Given the description of an element on the screen output the (x, y) to click on. 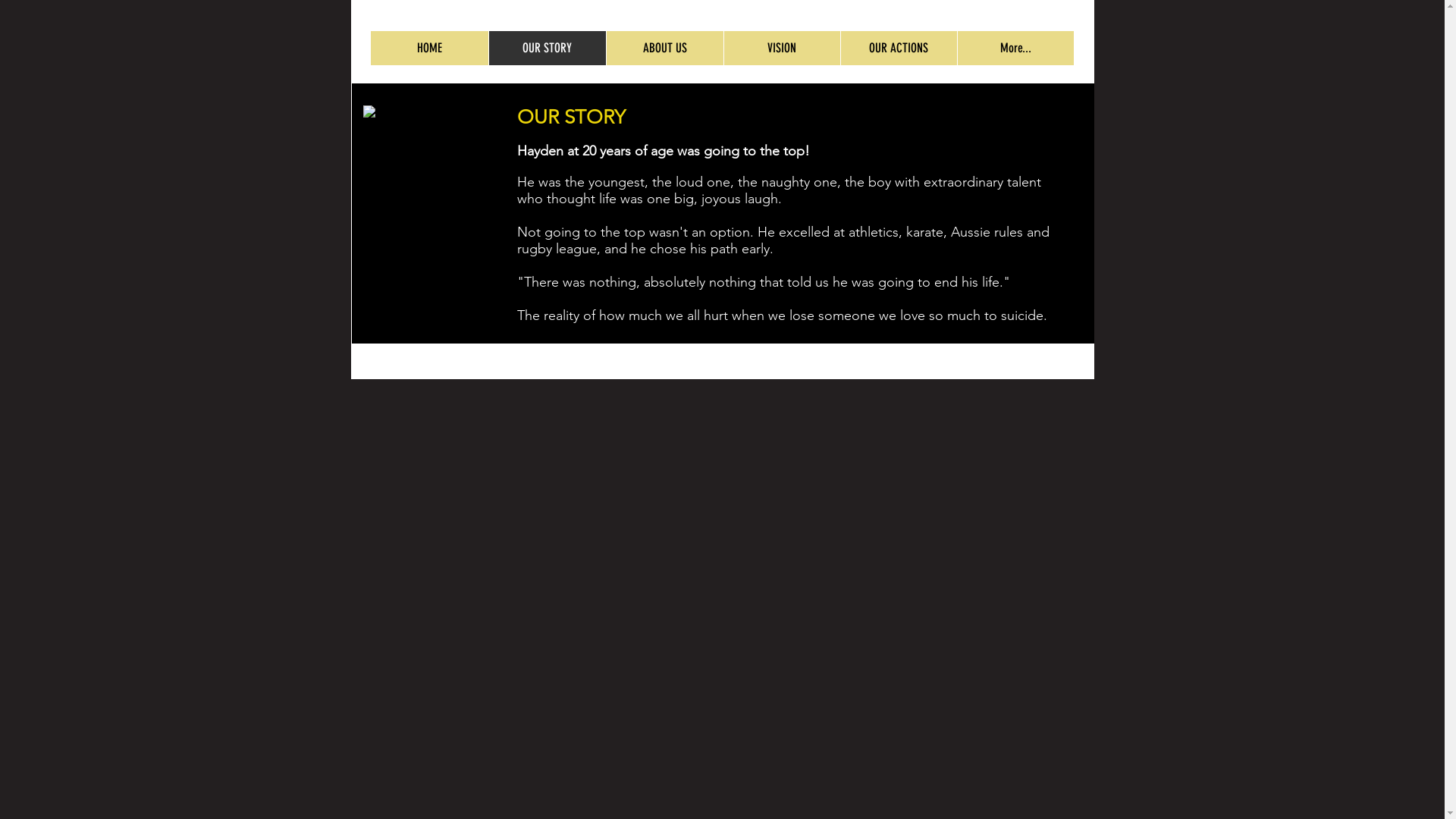
OUR STORY Element type: text (546, 48)
VISION Element type: text (781, 48)
OUR ACTIONS Element type: text (898, 48)
ABOUT US Element type: text (663, 48)
HOME Element type: text (428, 48)
